Given the description of an element on the screen output the (x, y) to click on. 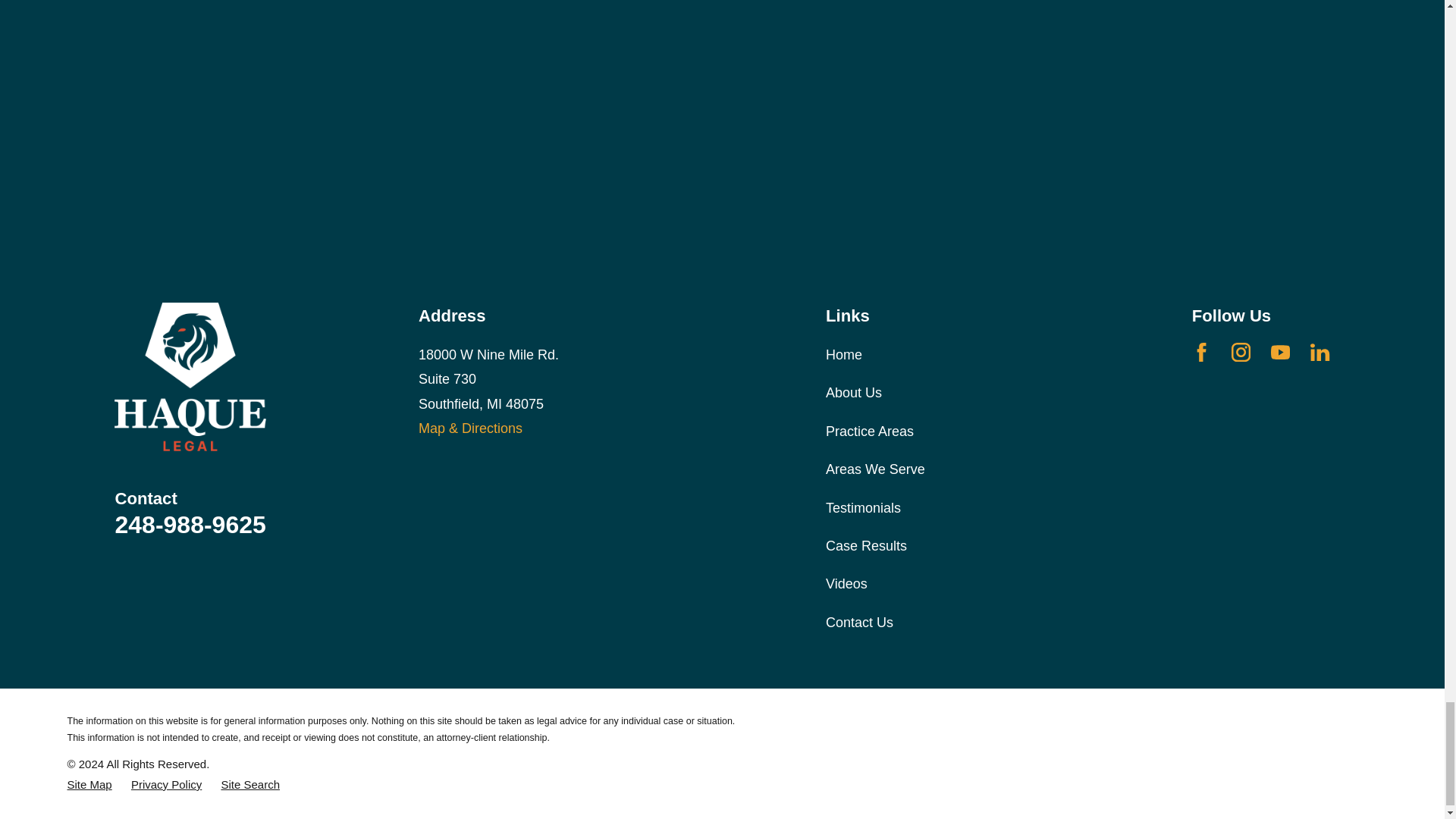
Facebook (1201, 352)
YouTube (1280, 352)
Instagram (1240, 352)
Home (190, 377)
